Given the description of an element on the screen output the (x, y) to click on. 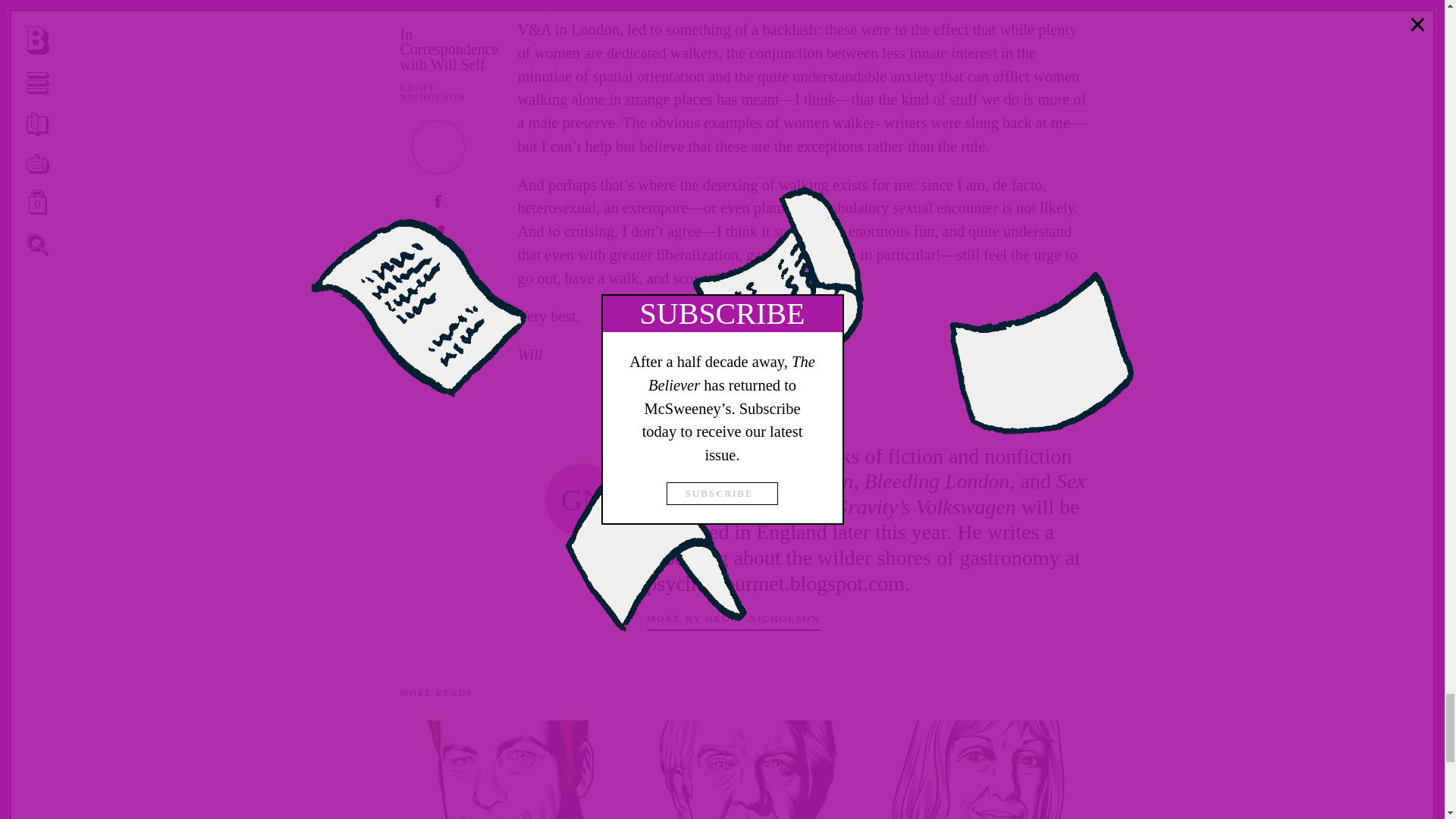
GN (582, 500)
